Given the description of an element on the screen output the (x, y) to click on. 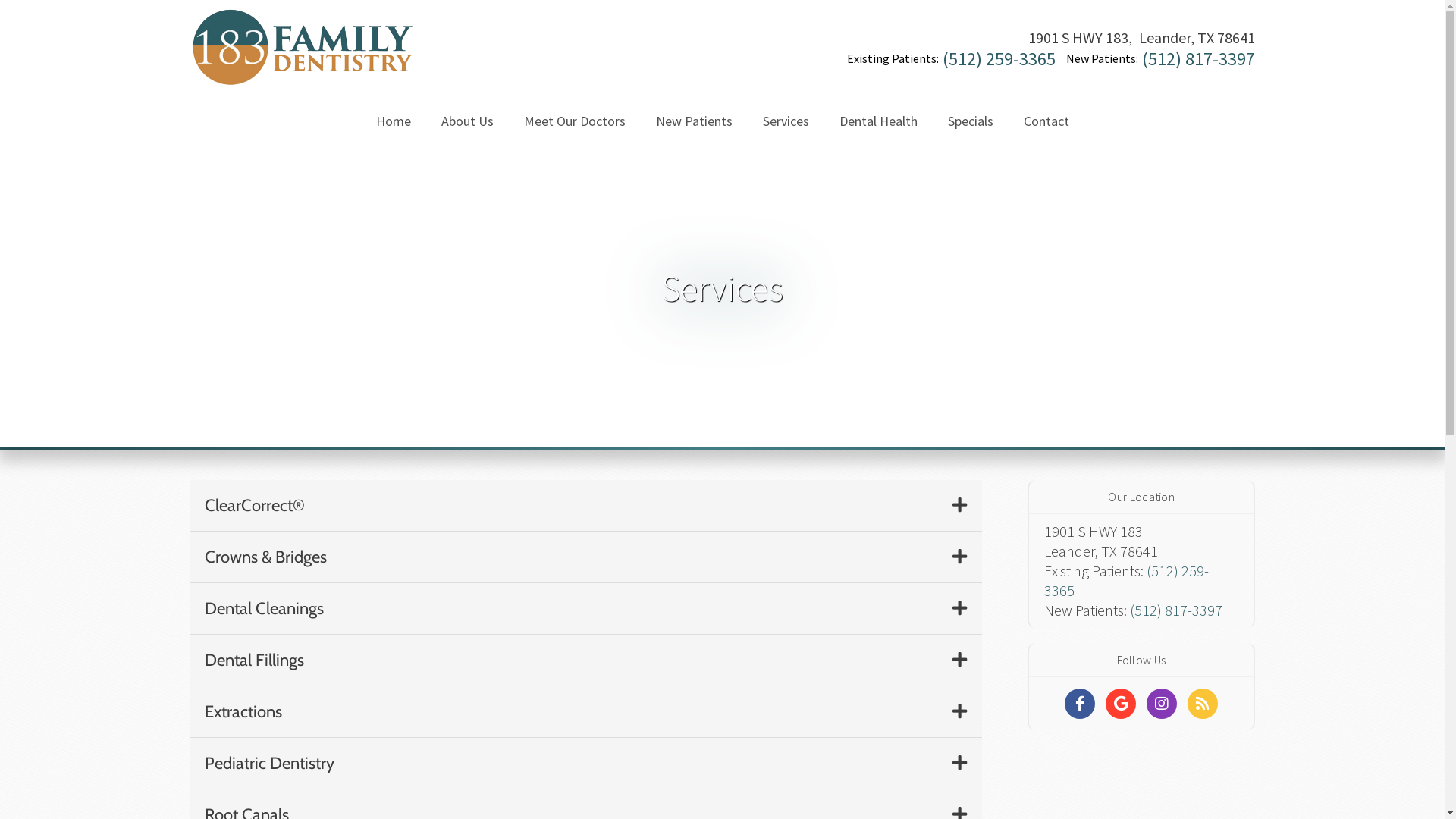
(512) 259-3365 Element type: text (998, 58)
(512) 817-3397 Element type: text (1175, 609)
(512) 259-3365 Element type: text (1126, 580)
(512) 817-3397 Element type: text (1198, 58)
